Given the description of an element on the screen output the (x, y) to click on. 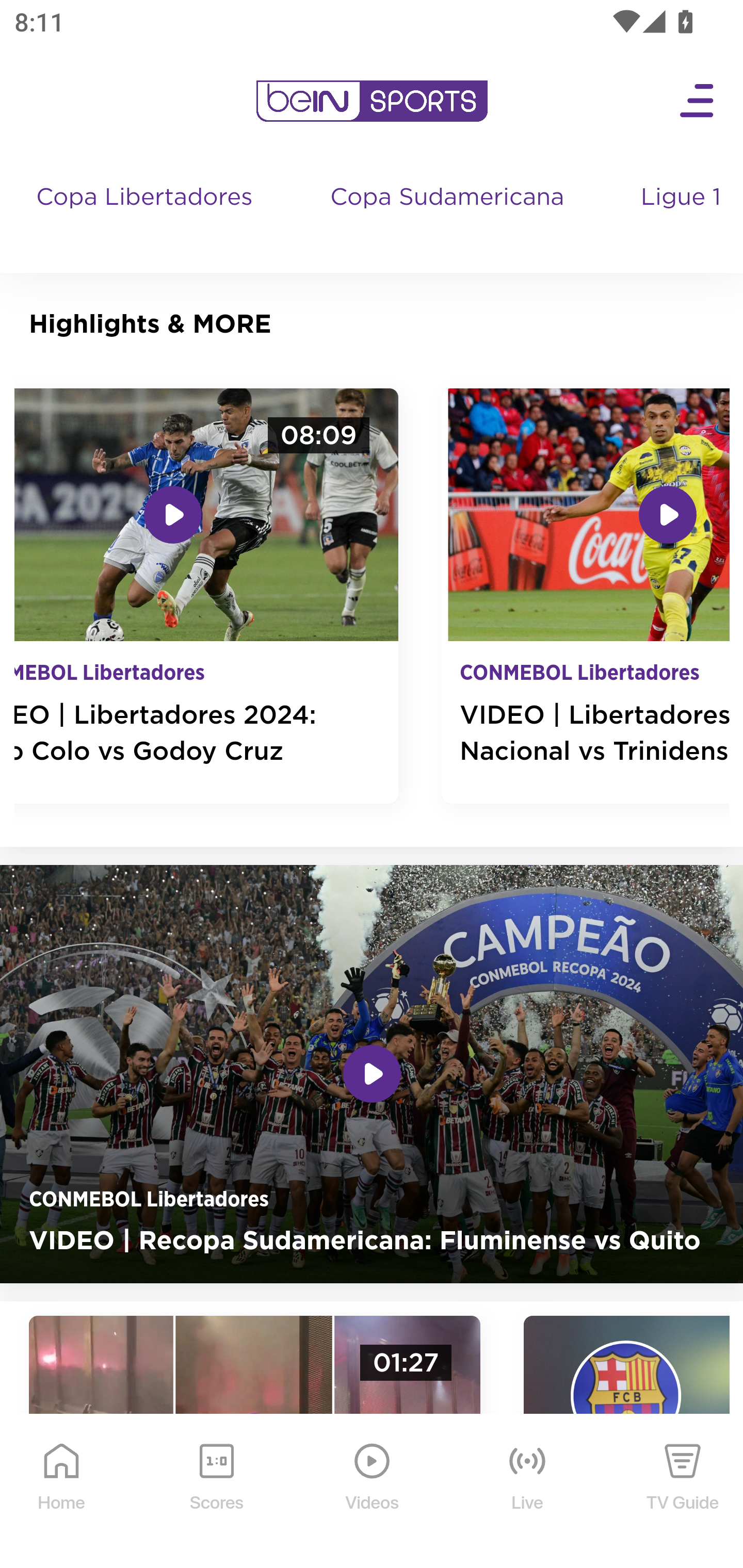
en-us?platform=mobile_android bein logo (371, 101)
Open Menu Icon (697, 101)
Copa Libertadores (146, 216)
Copa Sudamericana (448, 216)
Ligue 1 (682, 216)
Home Home Icon Home (61, 1491)
Scores Scores Icon Scores (216, 1491)
Videos Videos Icon Videos (372, 1491)
TV Guide TV Guide Icon TV Guide (682, 1491)
